Given the description of an element on the screen output the (x, y) to click on. 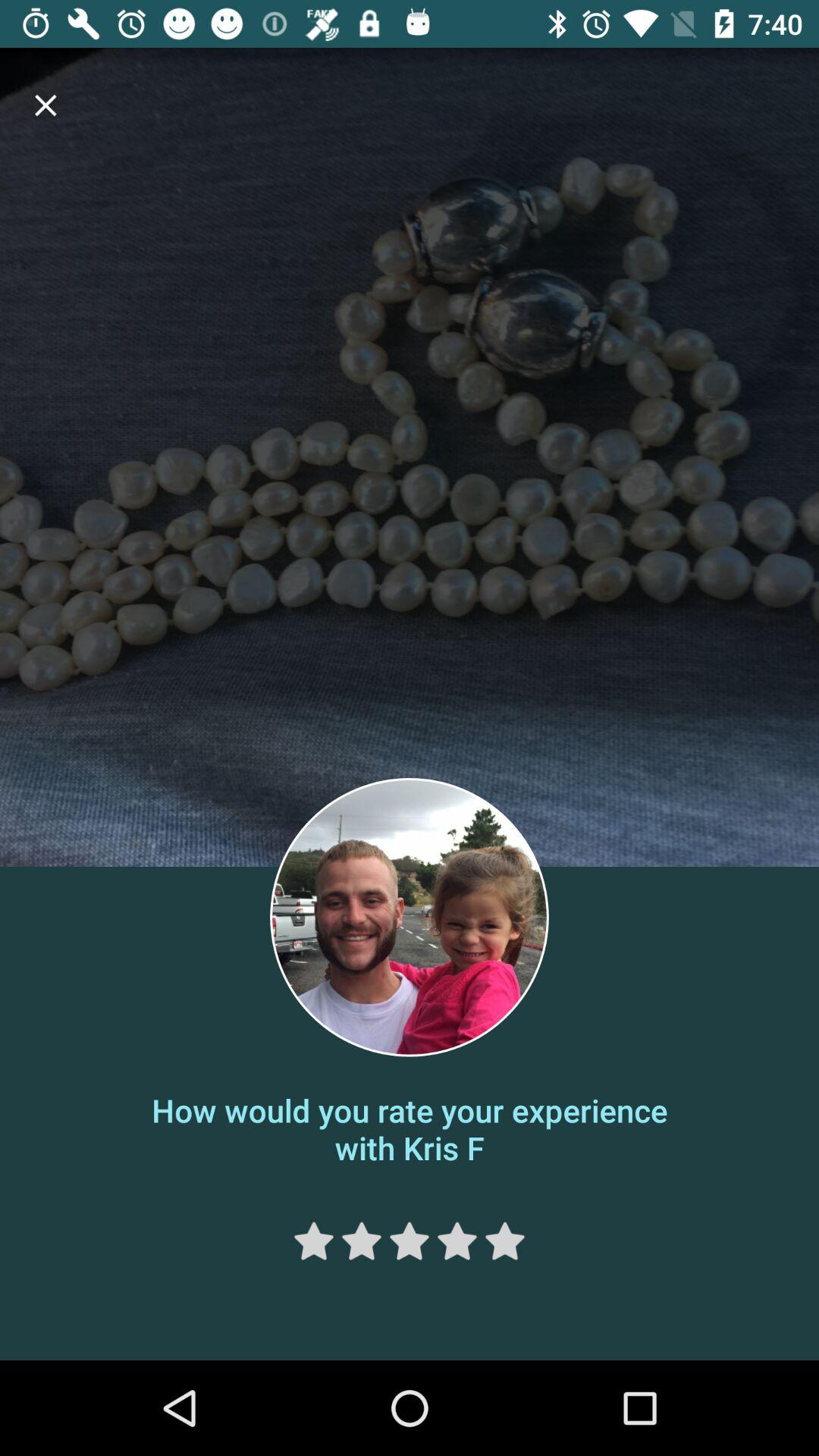
one star rating (313, 1240)
